Given the description of an element on the screen output the (x, y) to click on. 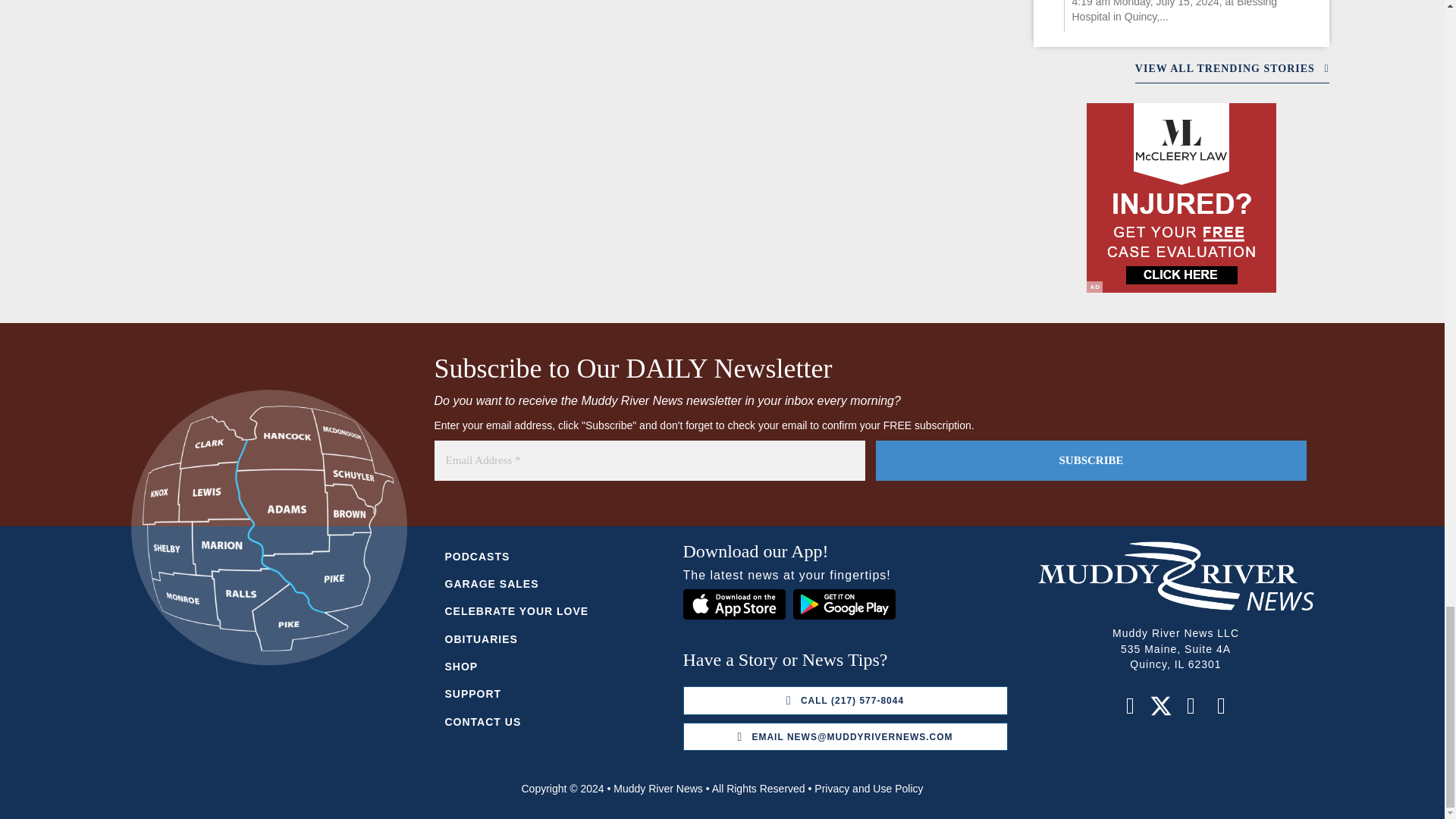
SUBSCRIBE (1091, 460)
